Given the description of an element on the screen output the (x, y) to click on. 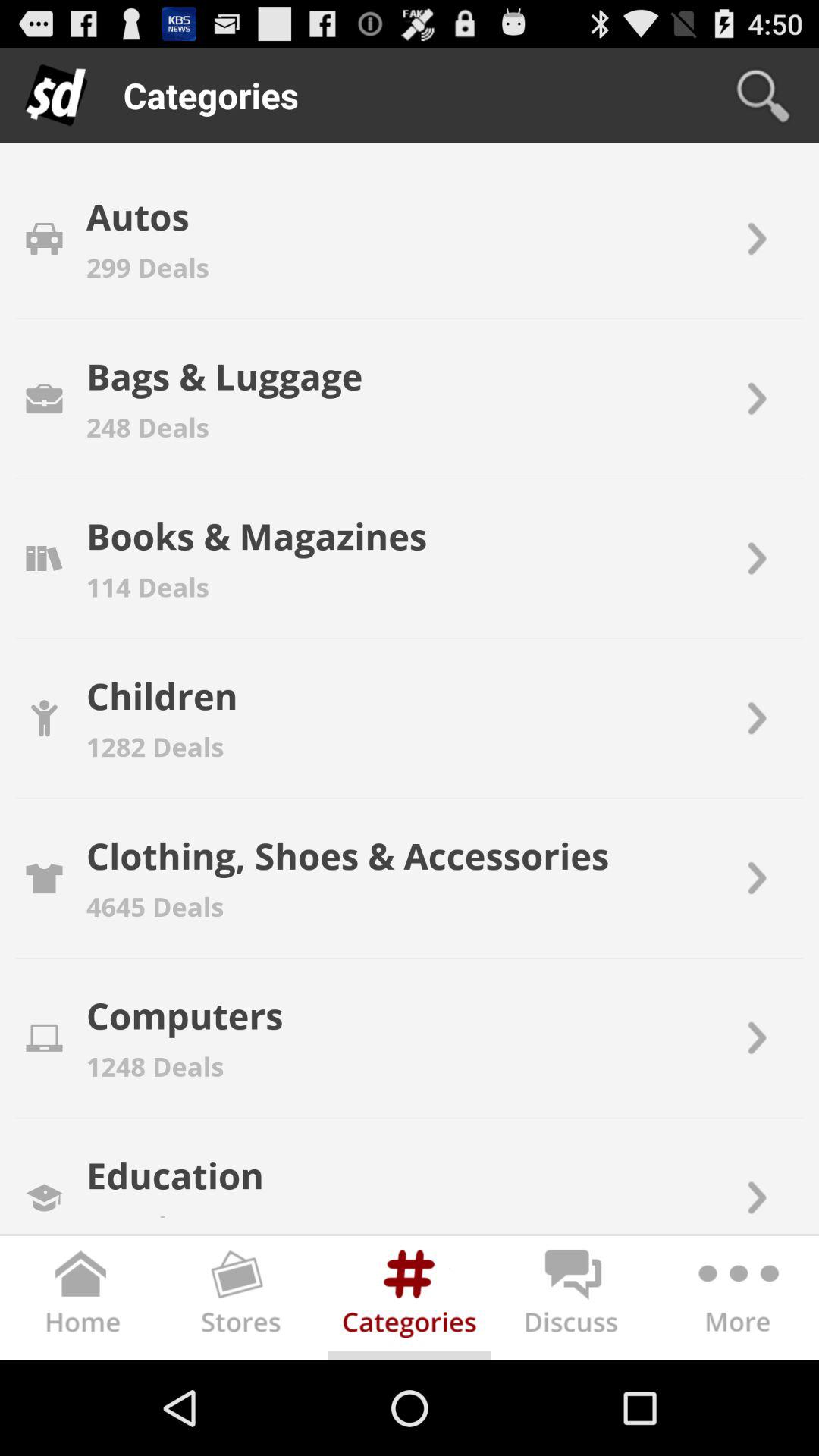
view category page (409, 1301)
